Given the description of an element on the screen output the (x, y) to click on. 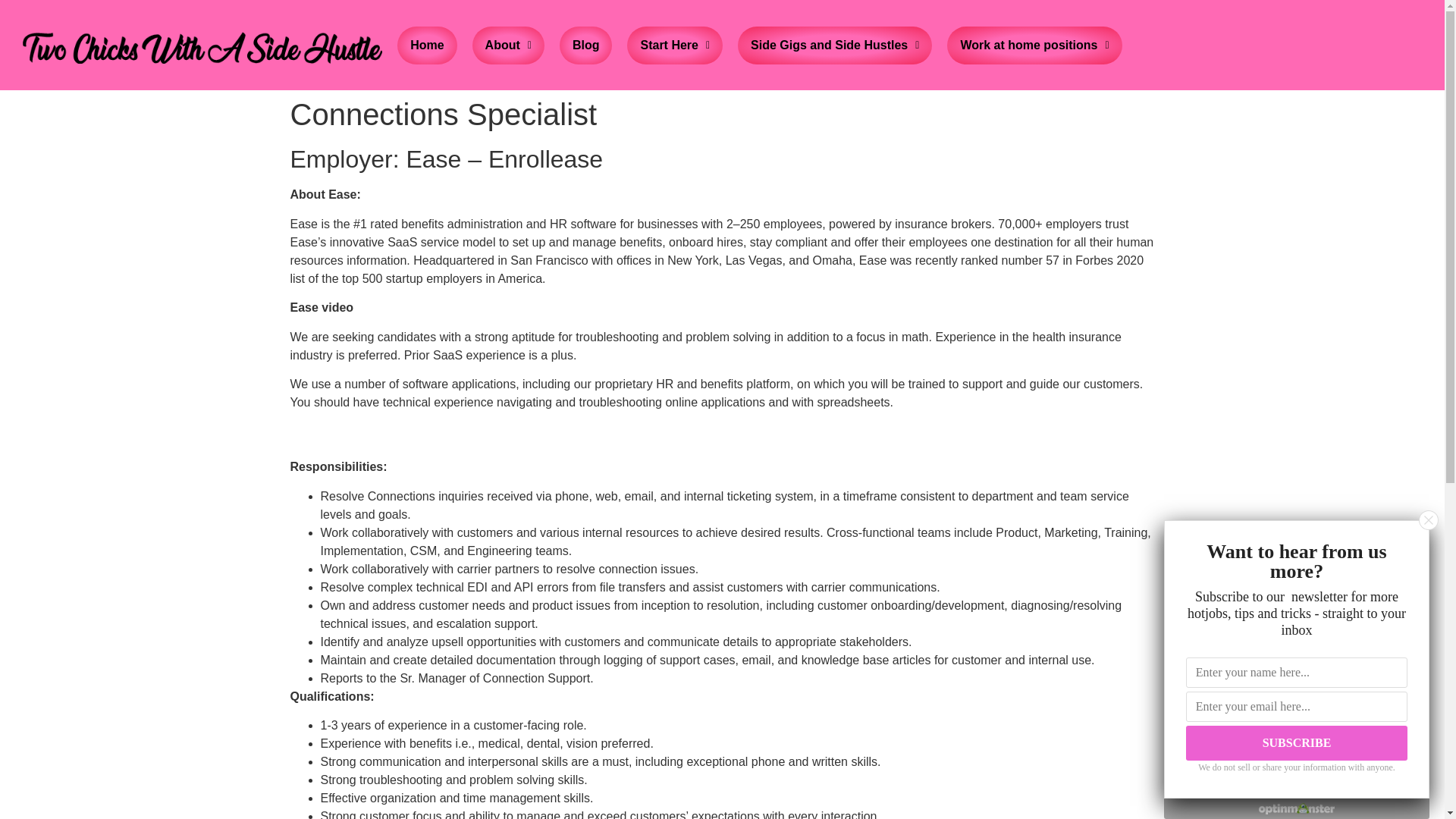
Blog (586, 45)
Work at home positions (1034, 45)
Powered by OptinMonster (1297, 808)
Home (426, 45)
Start Here (674, 45)
Close (1428, 520)
About (508, 45)
Subscribe (1296, 742)
Side Gigs and Side Hustles (834, 45)
